Given the description of an element on the screen output the (x, y) to click on. 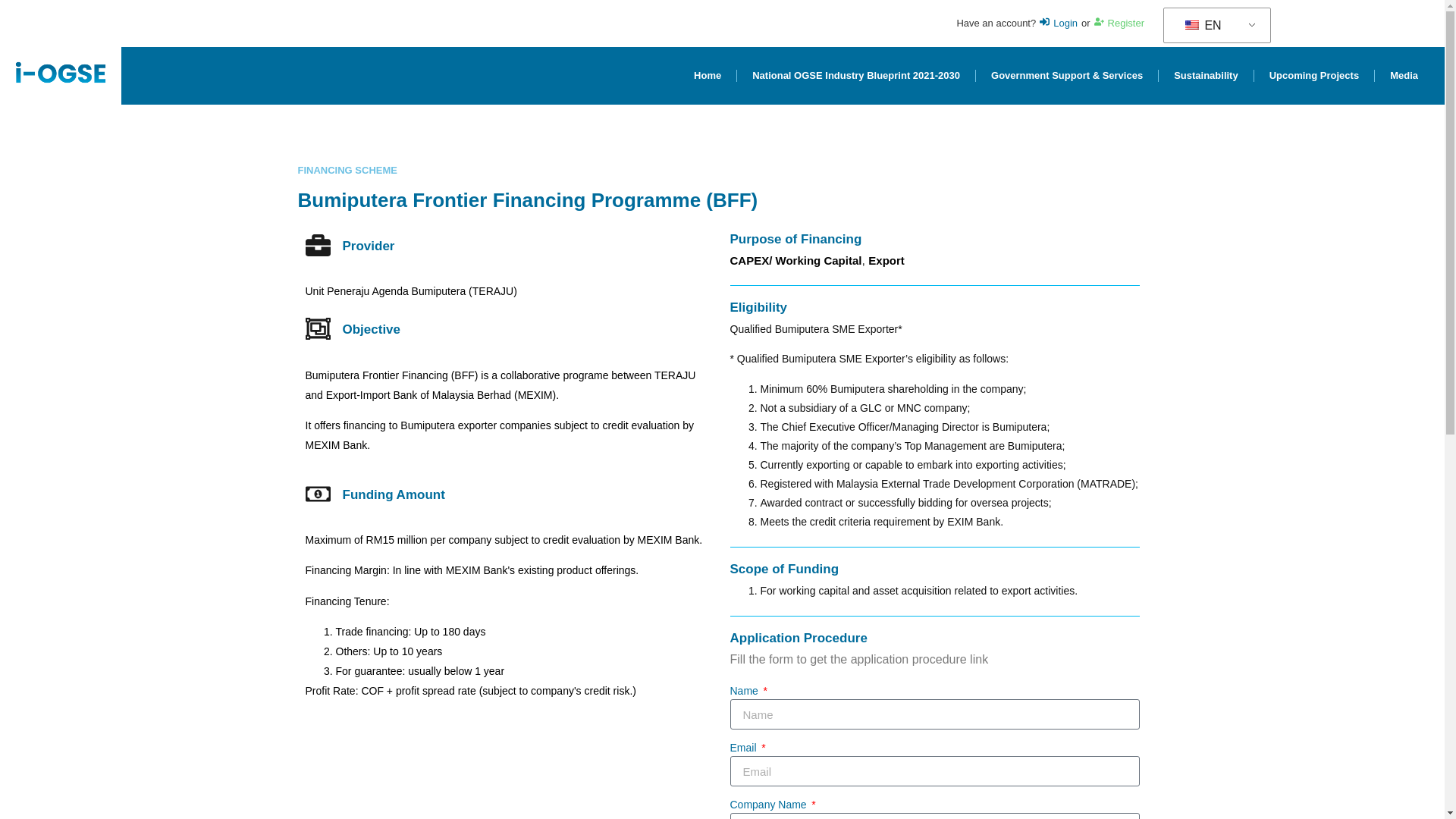
EN (1214, 25)
Upcoming Projects (1313, 75)
Login (1058, 23)
English (1214, 25)
Sustainability (1205, 75)
English (1191, 24)
National OGSE Industry Blueprint 2021-2030 (855, 75)
Register (1119, 23)
Media (1403, 75)
Home (707, 75)
